Given the description of an element on the screen output the (x, y) to click on. 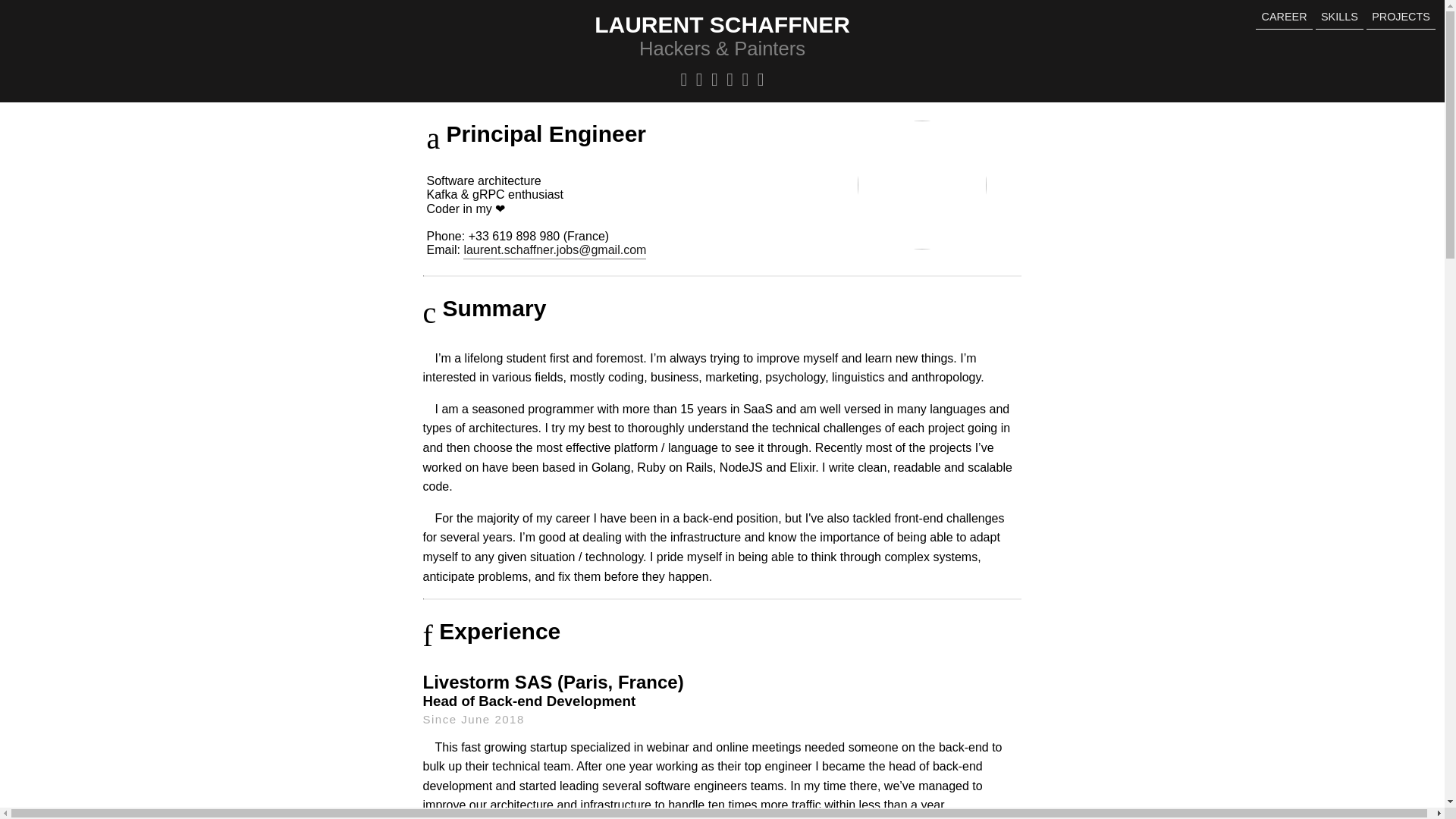
PROJECTS (1401, 16)
SKILLS (1339, 16)
CAREER (1283, 16)
